Given the description of an element on the screen output the (x, y) to click on. 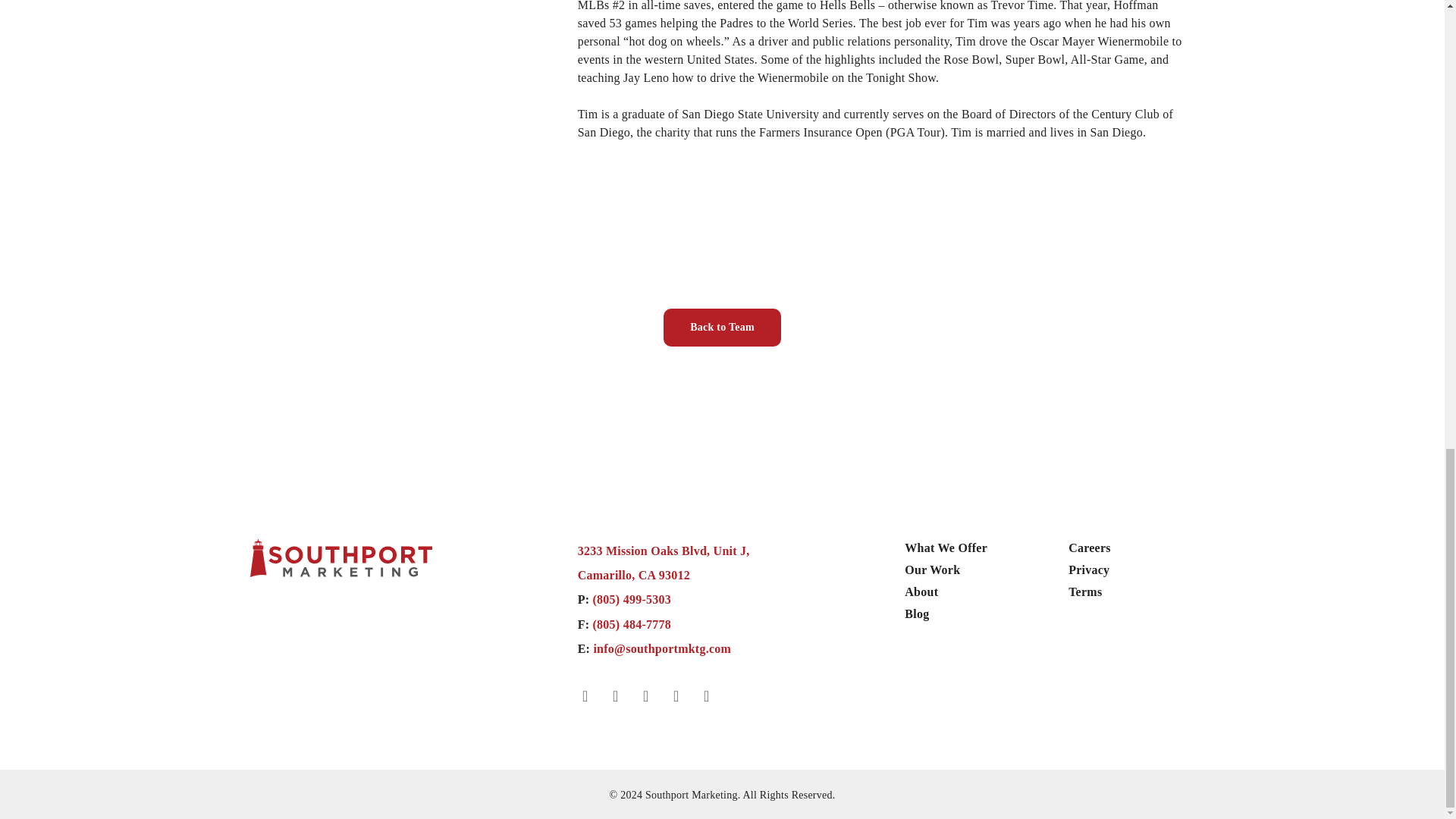
About (920, 592)
Blog (916, 614)
What We Offer (945, 547)
Back to Team (721, 327)
Careers (1089, 547)
Terms (663, 562)
Our Work (1085, 592)
Privacy (931, 570)
